Given the description of an element on the screen output the (x, y) to click on. 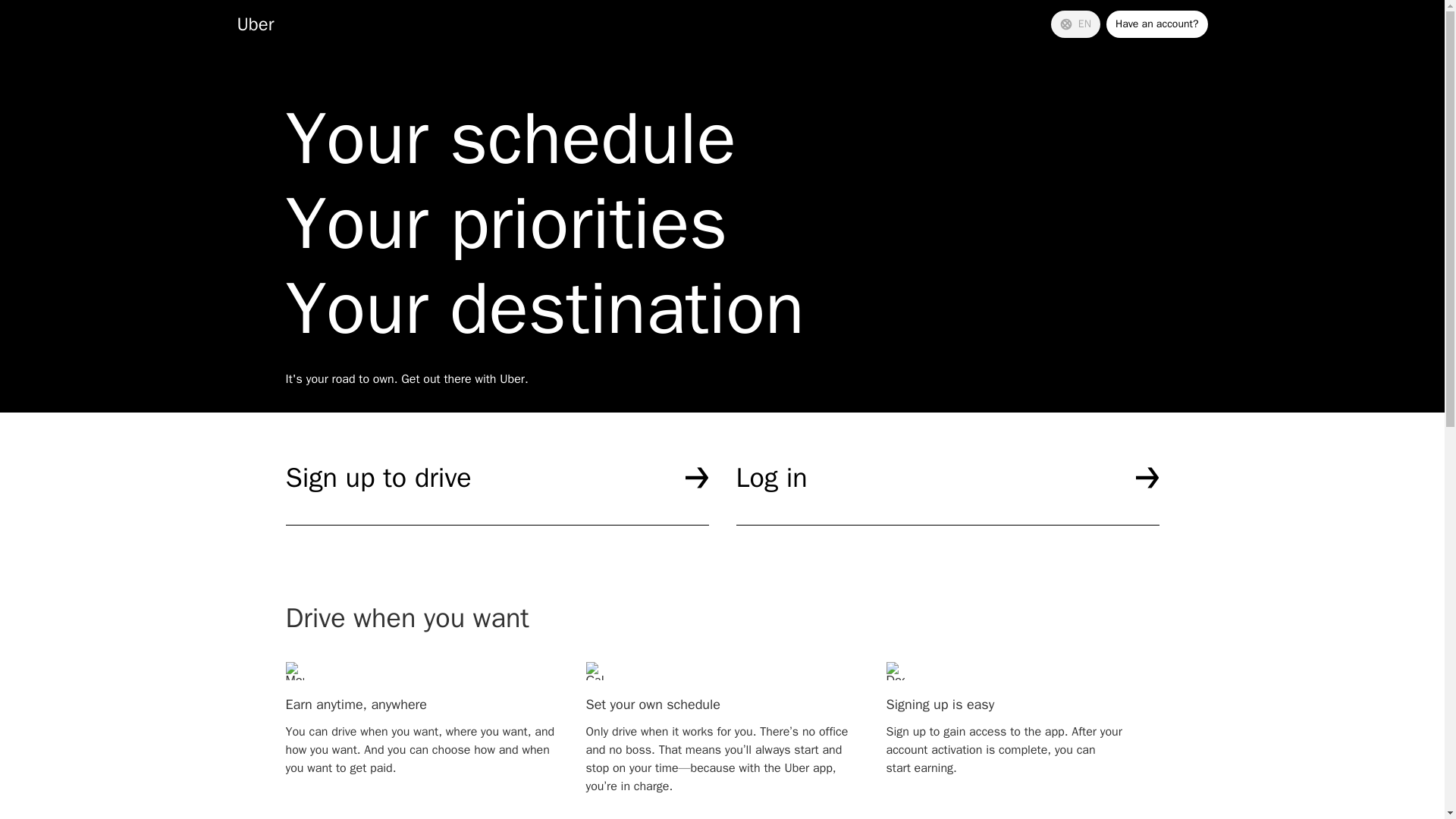
EN (1075, 23)
Uber (254, 24)
Log in (946, 493)
Have an account? (1157, 23)
Sign up to drive (496, 493)
